Given the description of an element on the screen output the (x, y) to click on. 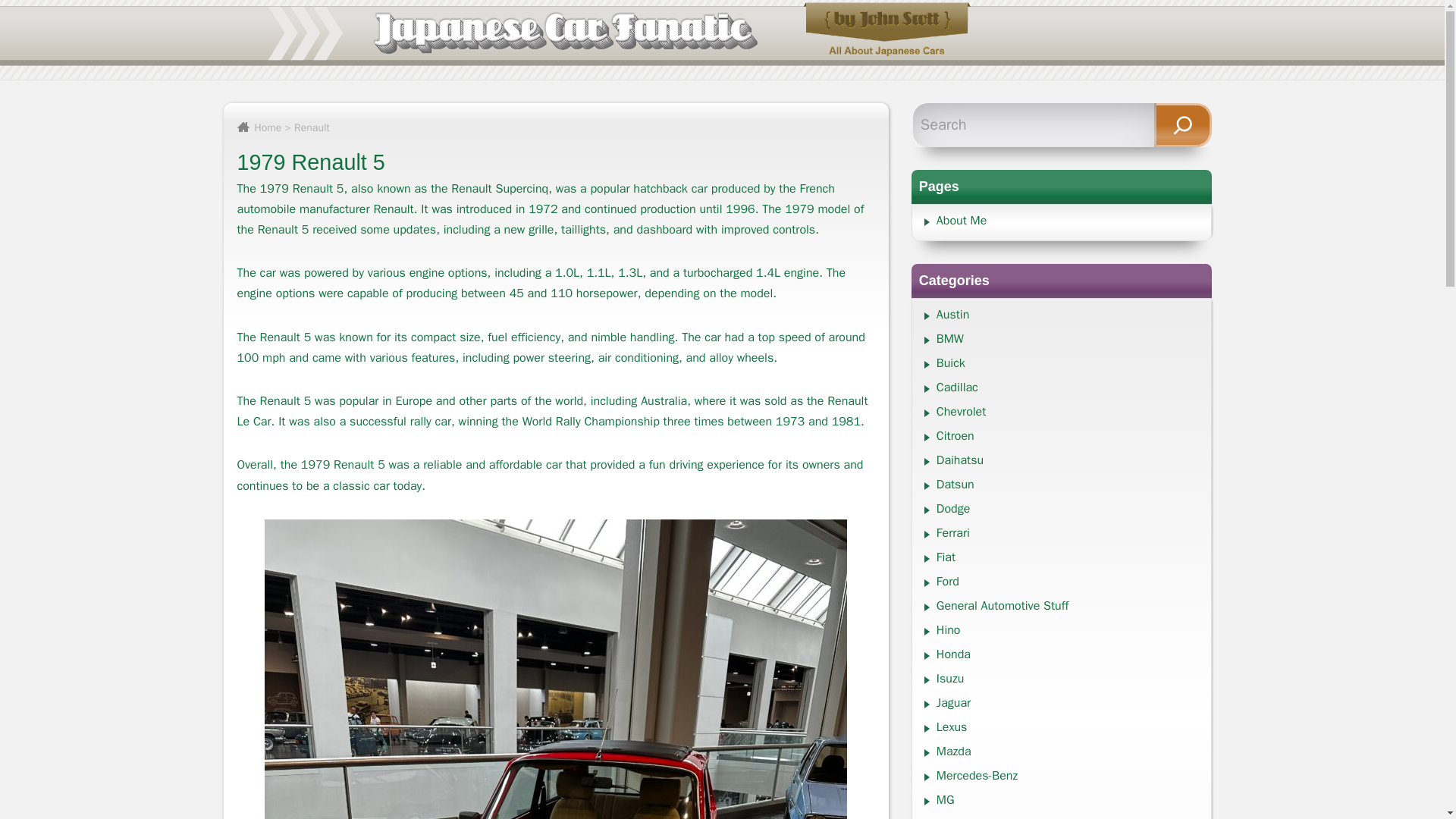
Buick (950, 363)
Ford (947, 581)
Chevrolet (960, 411)
Austin (952, 314)
Cadillac (957, 387)
Daihatsu (960, 459)
Home (258, 127)
Jaguar (953, 702)
Datsun (955, 484)
Mitsubishi (963, 817)
